Given the description of an element on the screen output the (x, y) to click on. 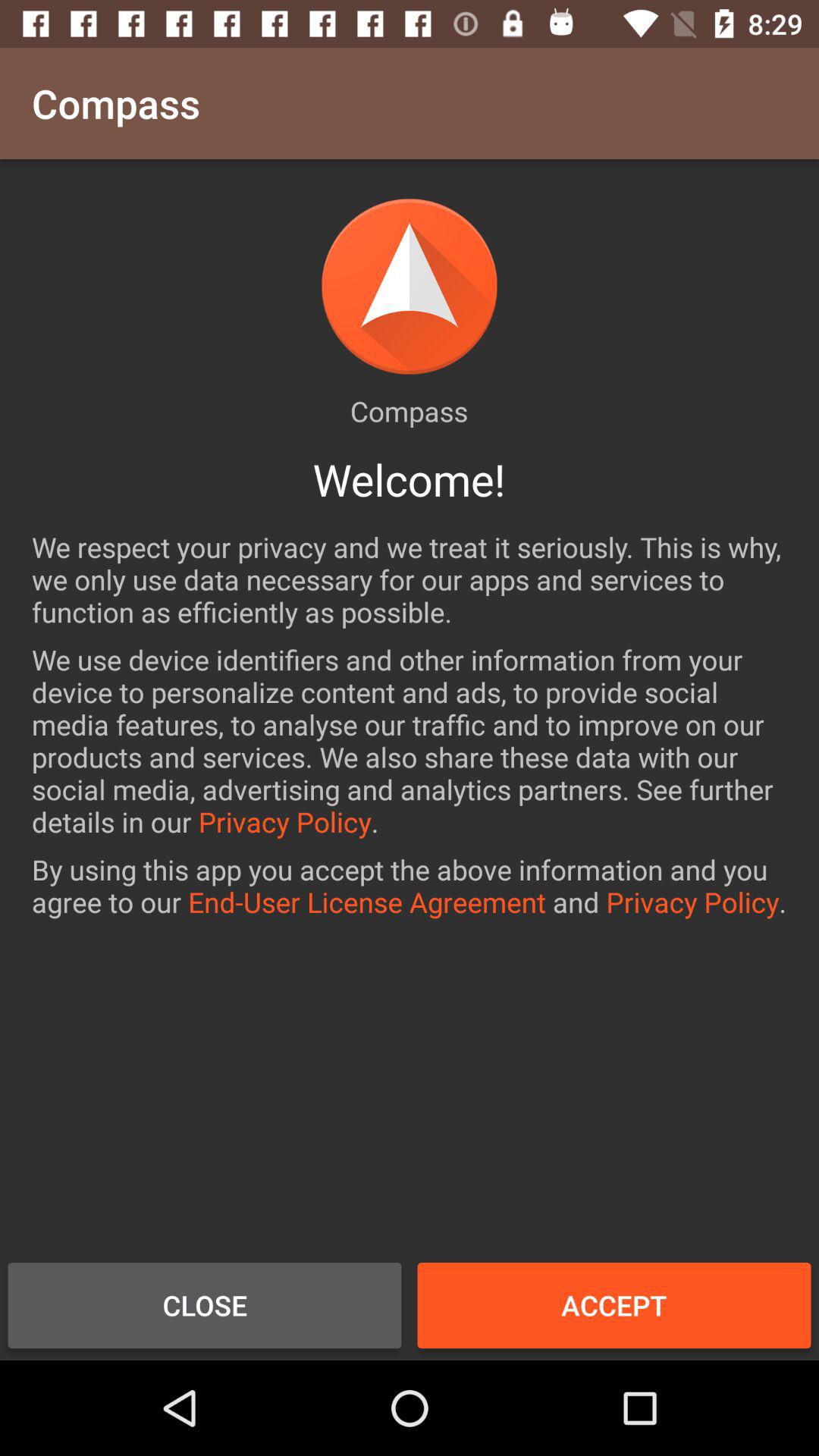
tap item at the bottom left corner (204, 1305)
